Given the description of an element on the screen output the (x, y) to click on. 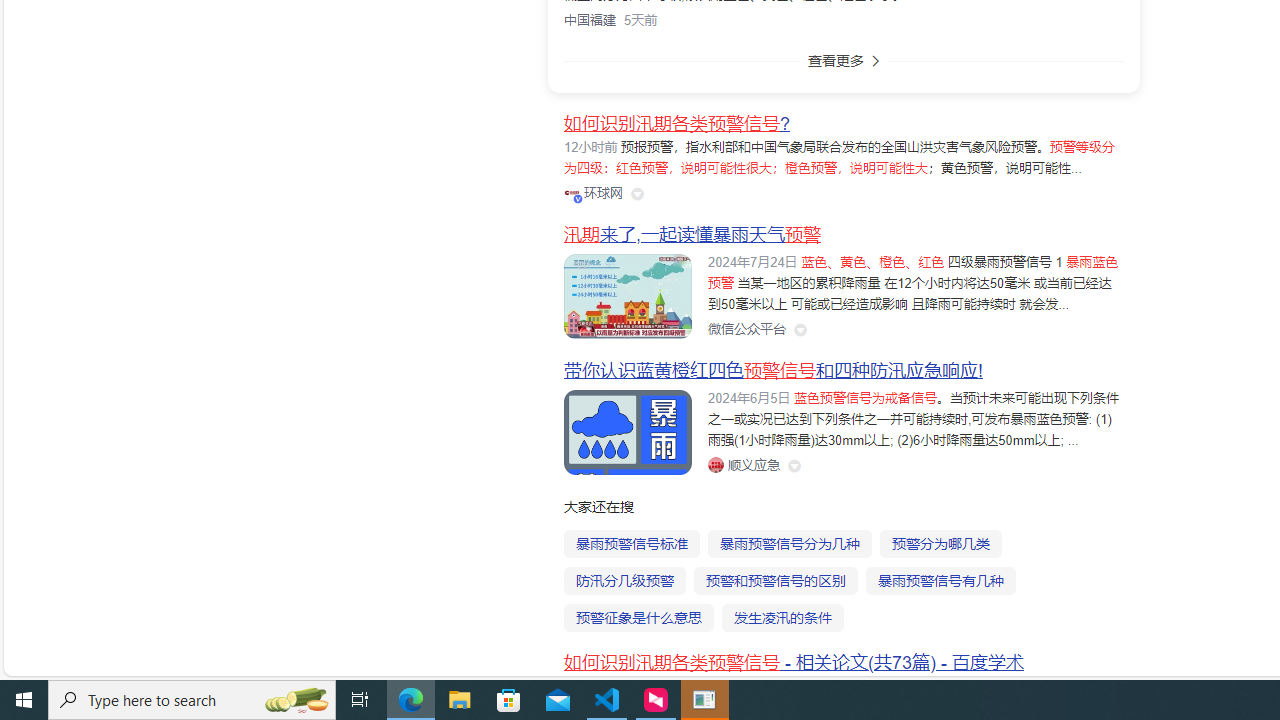
Class: vip-icon_kNmNt (577, 198)
Class: siteLink_9TPP3 (743, 465)
